Given the description of an element on the screen output the (x, y) to click on. 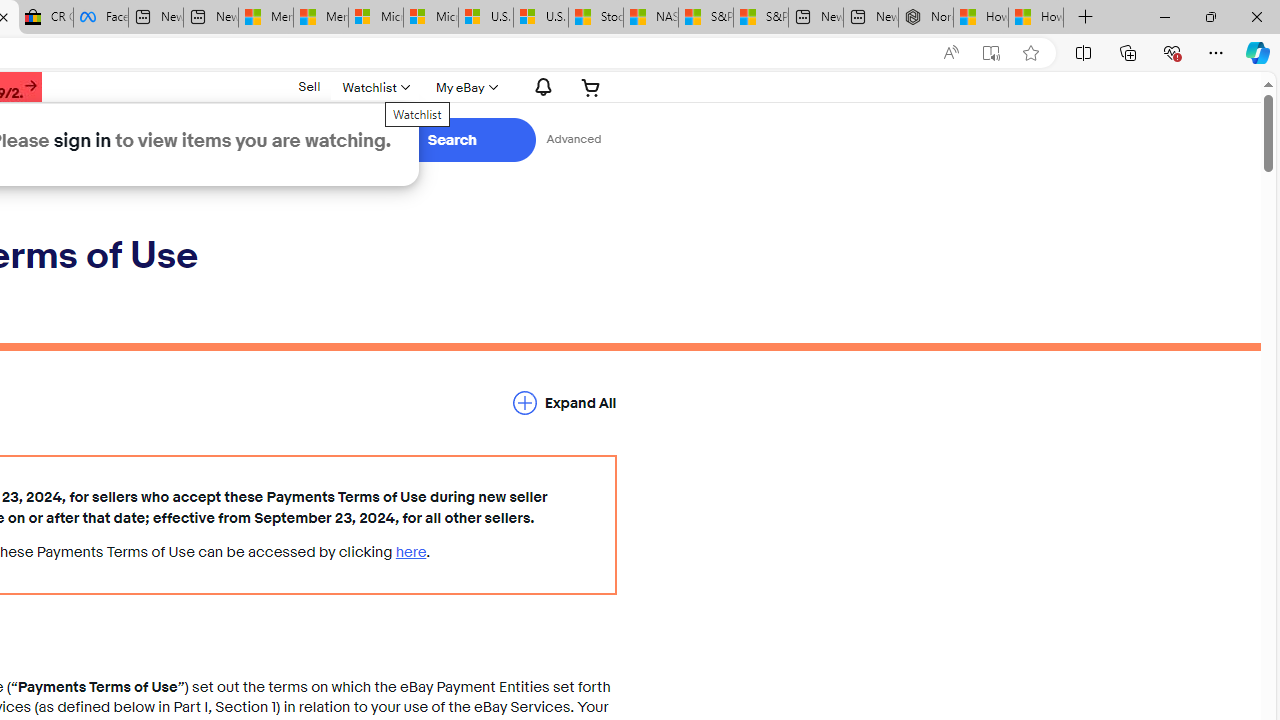
S&P 500, Nasdaq end lower, weighed by Nvidia dip | Watch (760, 17)
How to Use a Monitor With Your Closed Laptop (1035, 17)
AutomationID: gh-eb-Alerts (540, 87)
Advanced Search (573, 139)
Your shopping cart (591, 87)
My eBay (464, 87)
